Given the description of an element on the screen output the (x, y) to click on. 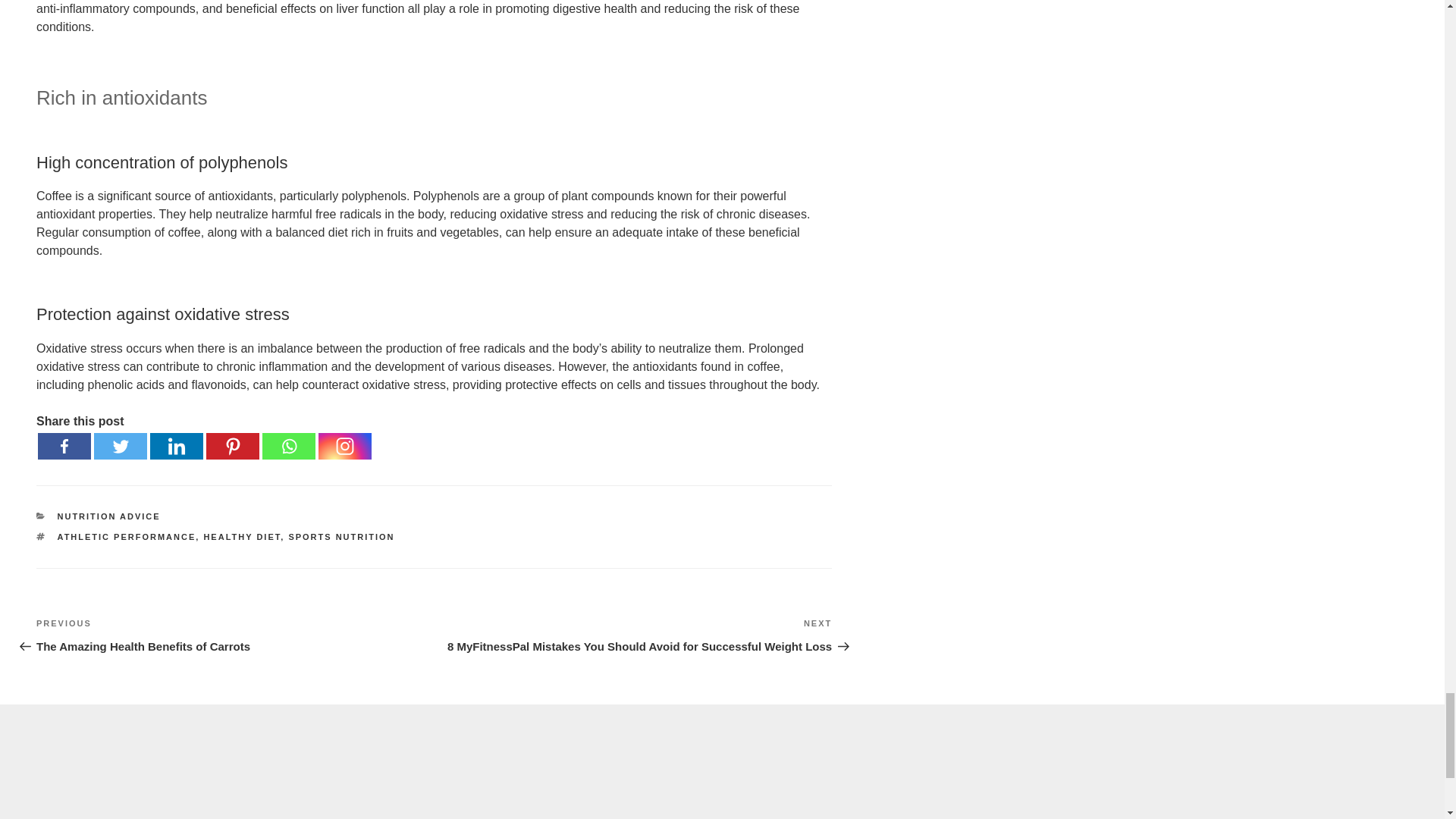
Facebook (63, 446)
Linkedin (176, 446)
Pinterest (232, 446)
Instagram (344, 446)
Twitter (120, 446)
Whatsapp (288, 446)
